Given the description of an element on the screen output the (x, y) to click on. 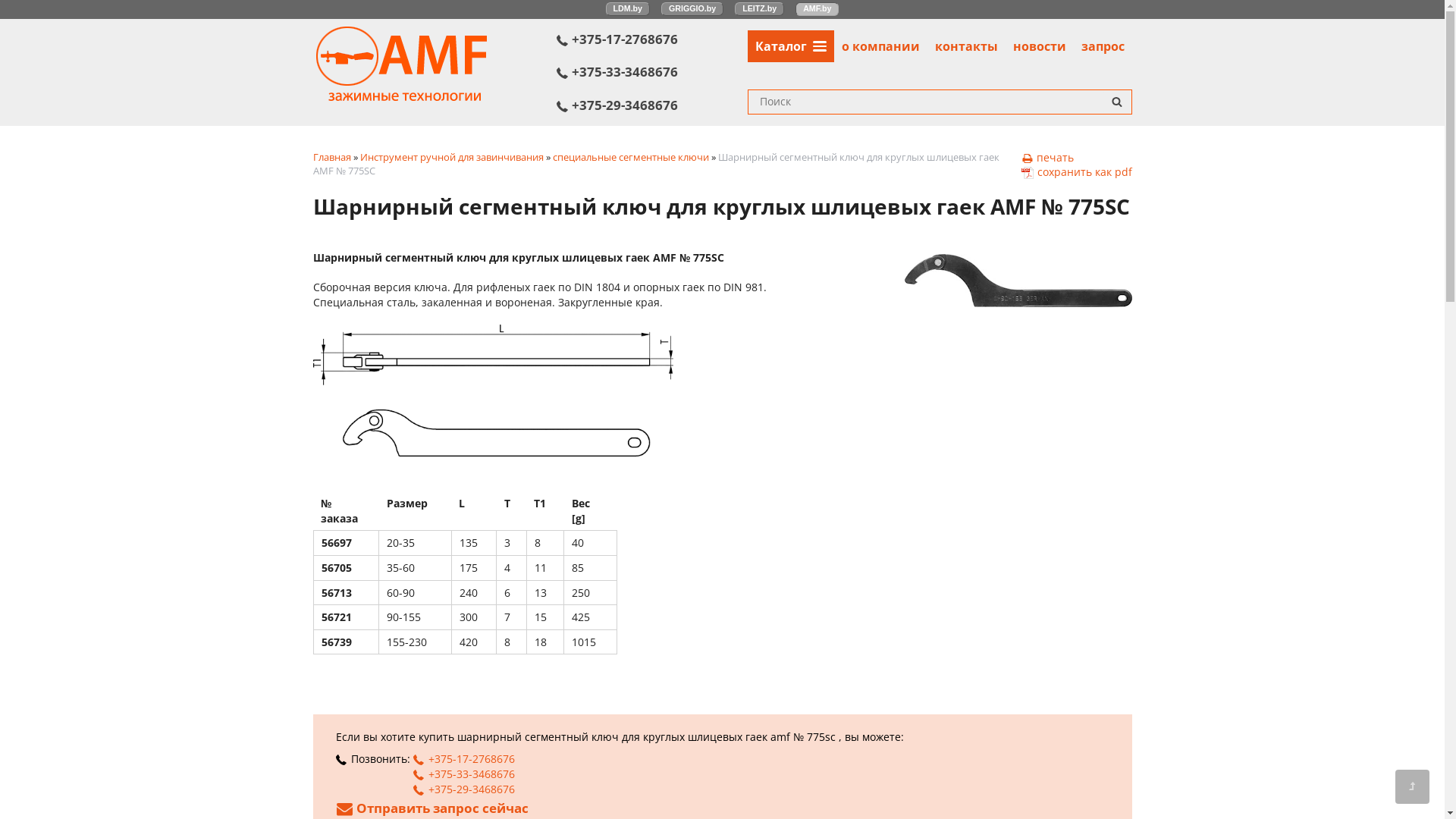
+375-17-2768676 Element type: text (651, 39)
+375-33-3468676 Element type: text (651, 71)
AMF.by Element type: text (816, 8)
LEITZ.by Element type: text (759, 8)
+375-17-2768676 Element type: text (463, 758)
+375-29-3468676 Element type: text (651, 105)
LDM.by Element type: text (627, 8)
GRIGGIO.by Element type: text (692, 8)
+375-33-3468676 Element type: text (463, 773)
+375-29-3468676 Element type: text (463, 788)
